Given the description of an element on the screen output the (x, y) to click on. 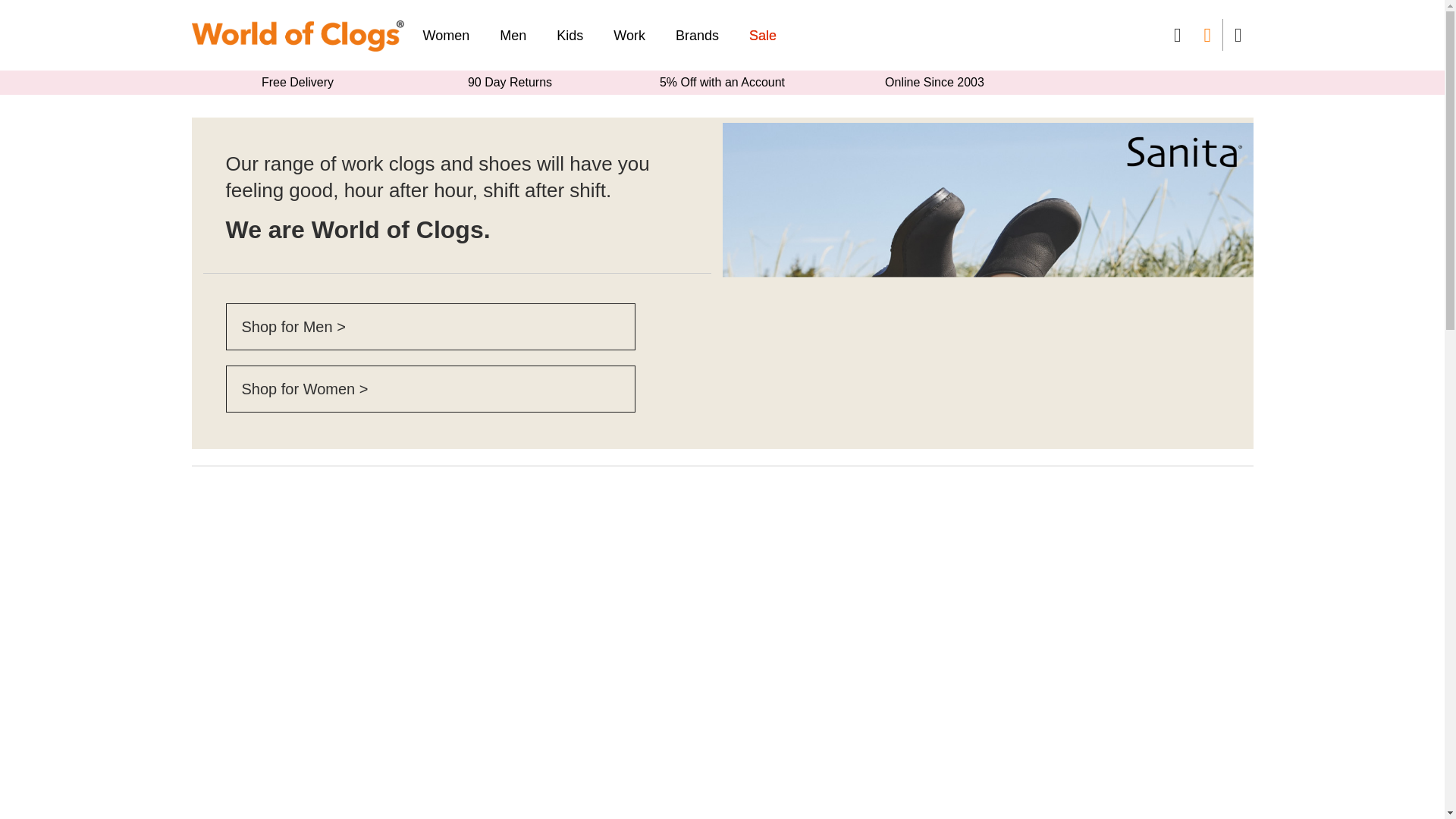
World of Clogs (296, 34)
Men (512, 35)
Shop Clogs for Women (304, 388)
Shop Clogs for Men (293, 326)
Women (453, 35)
